Given the description of an element on the screen output the (x, y) to click on. 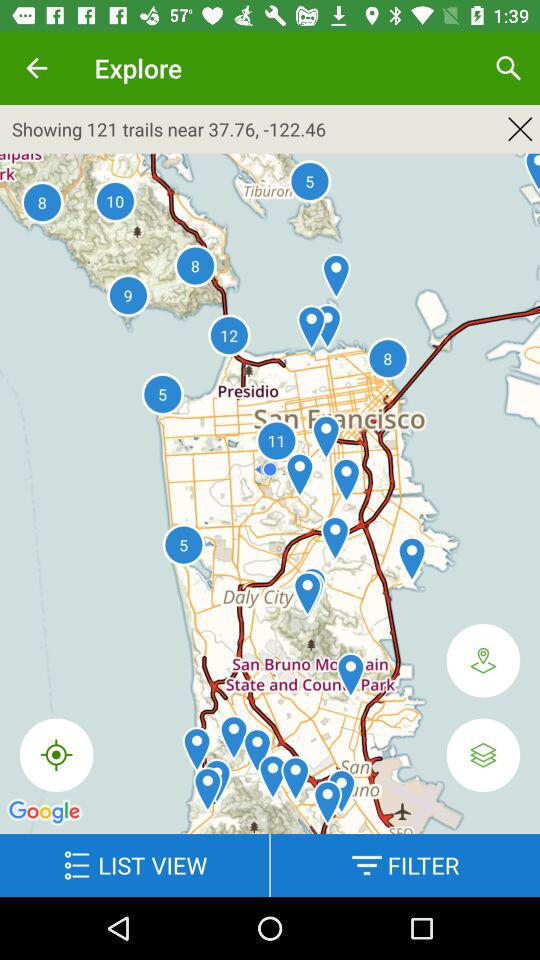
click the icon below showing 121 trails item (56, 754)
